Given the description of an element on the screen output the (x, y) to click on. 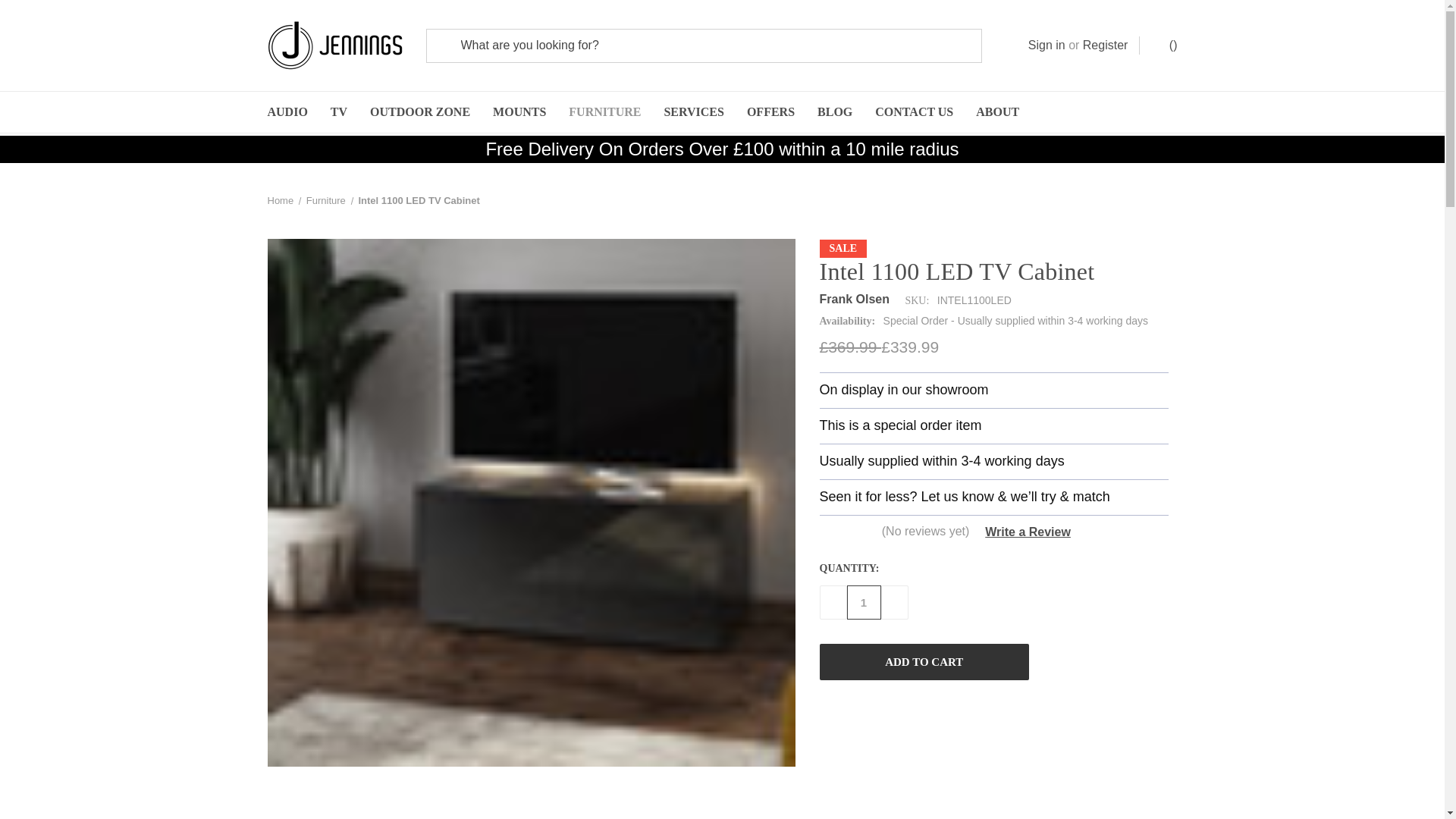
Sign in (1046, 45)
Add to Cart (922, 661)
AUDIO (287, 111)
TV (338, 111)
1 (862, 602)
Register (1105, 45)
